Given the description of an element on the screen output the (x, y) to click on. 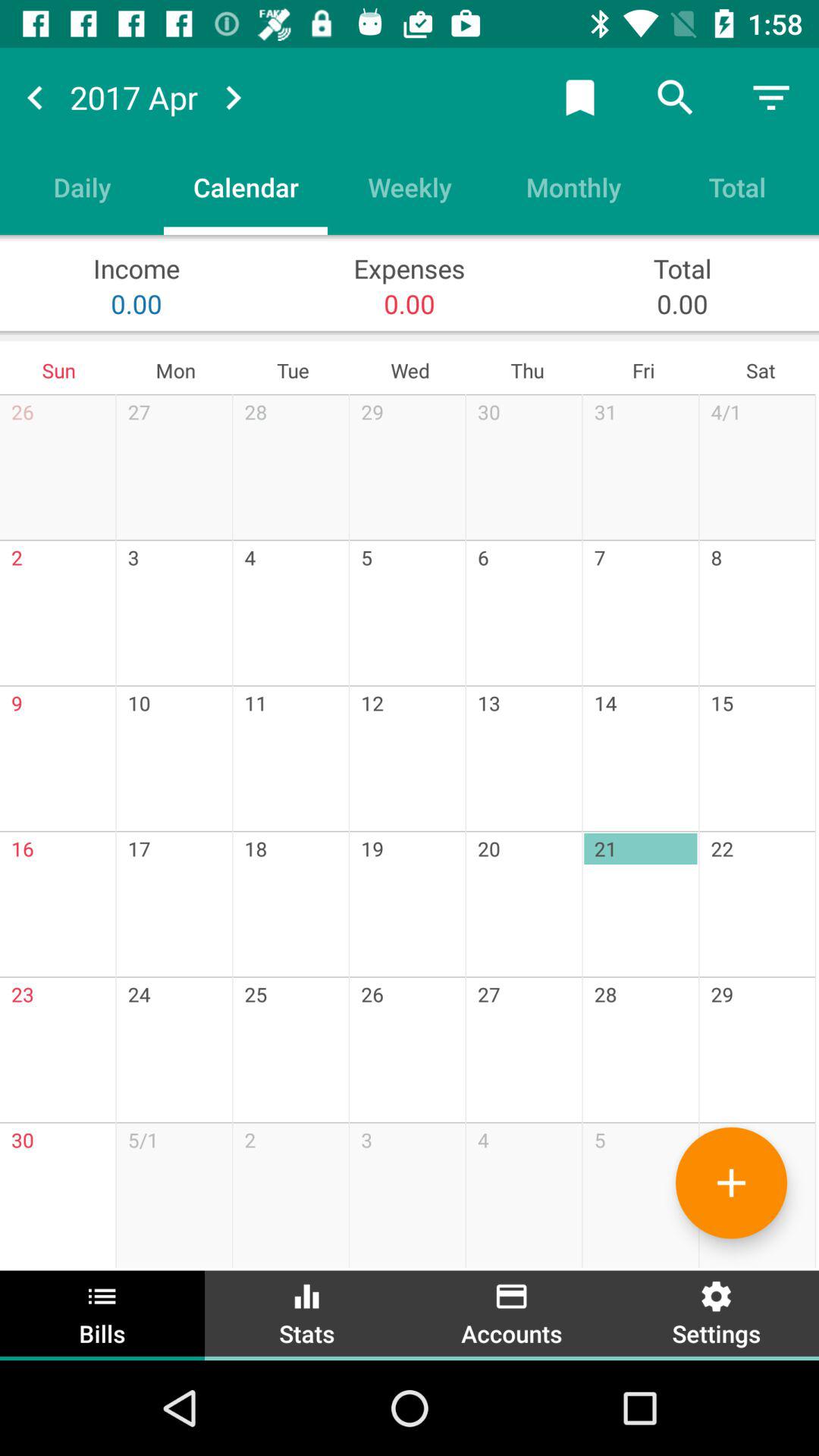
menu option (771, 97)
